Given the description of an element on the screen output the (x, y) to click on. 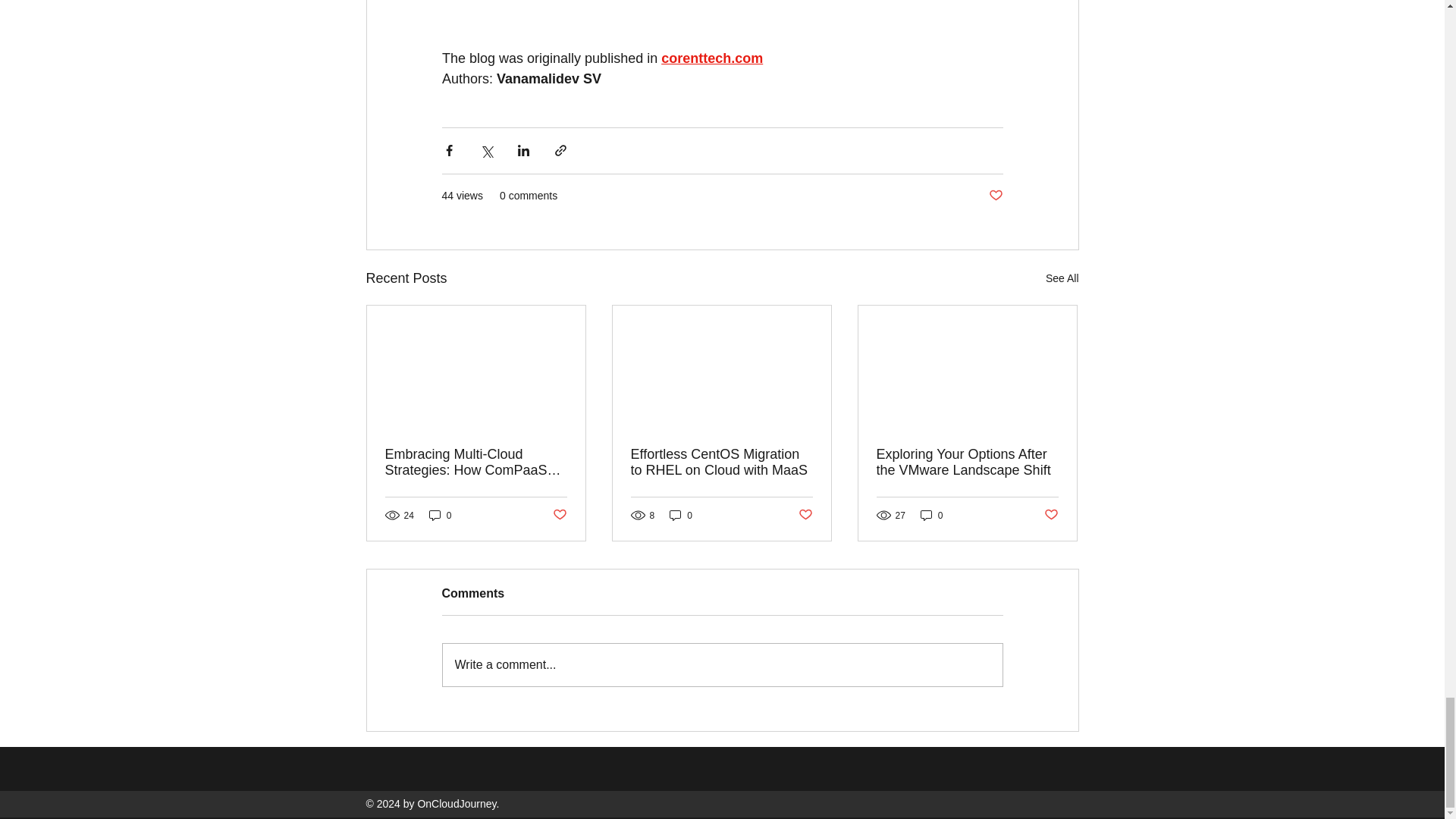
Effortless CentOS Migration to RHEL on Cloud with MaaS (721, 462)
0 (681, 514)
0 (440, 514)
corenttech.com (711, 58)
0 (931, 514)
Write a comment... (722, 664)
Post not marked as liked (995, 195)
Post not marked as liked (1050, 514)
See All (1061, 278)
Post not marked as liked (558, 514)
Post not marked as liked (804, 514)
Exploring Your Options After the VMware Landscape Shift (967, 462)
